Given the description of an element on the screen output the (x, y) to click on. 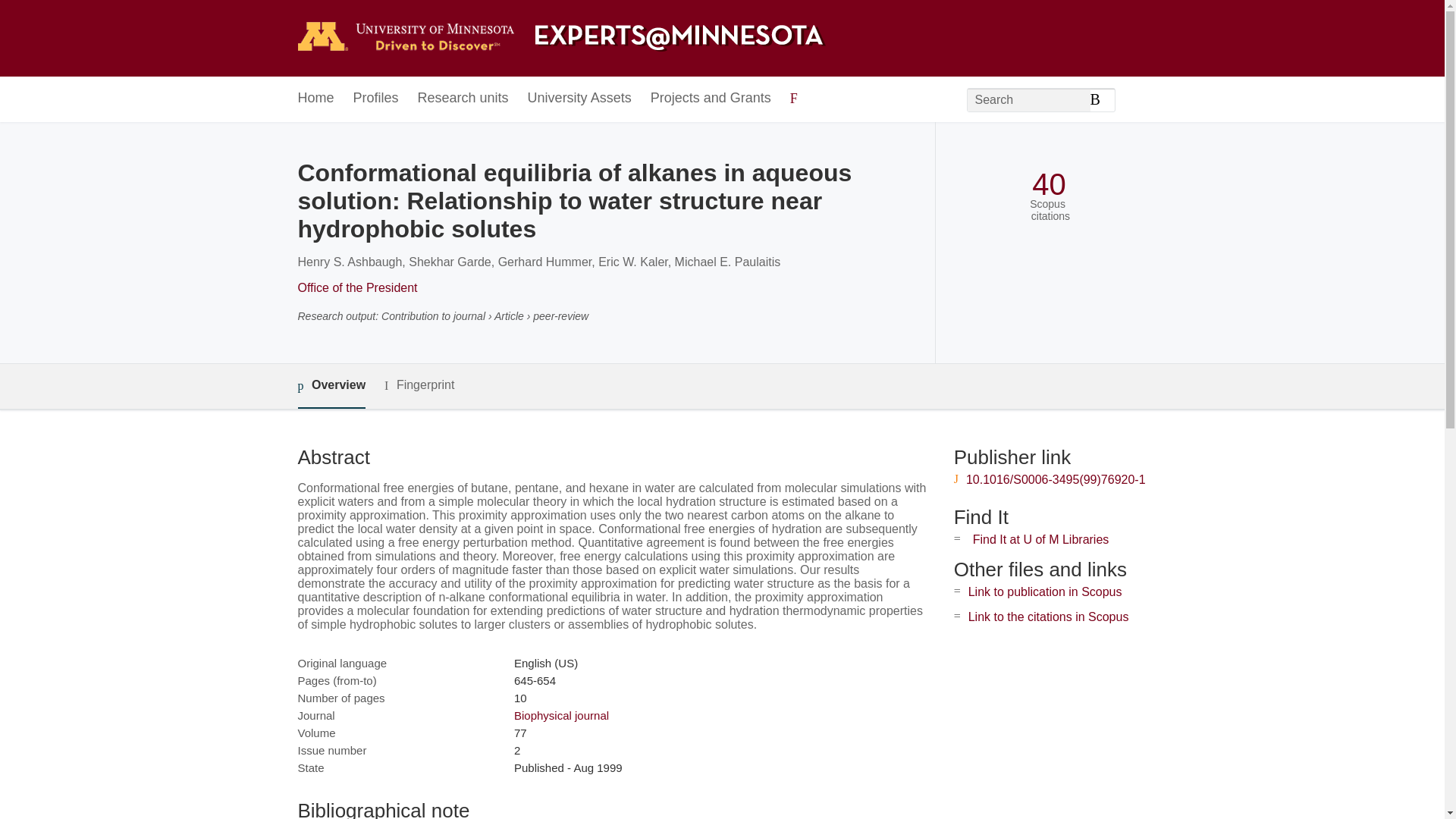
Find It at U of M Libraries (1040, 539)
Link to the citations in Scopus (1048, 616)
Overview (331, 385)
Link to publication in Scopus (1045, 591)
Fingerprint (419, 385)
Projects and Grants (710, 98)
40 (1048, 184)
Research units (462, 98)
University Assets (579, 98)
Profiles (375, 98)
